Given the description of an element on the screen output the (x, y) to click on. 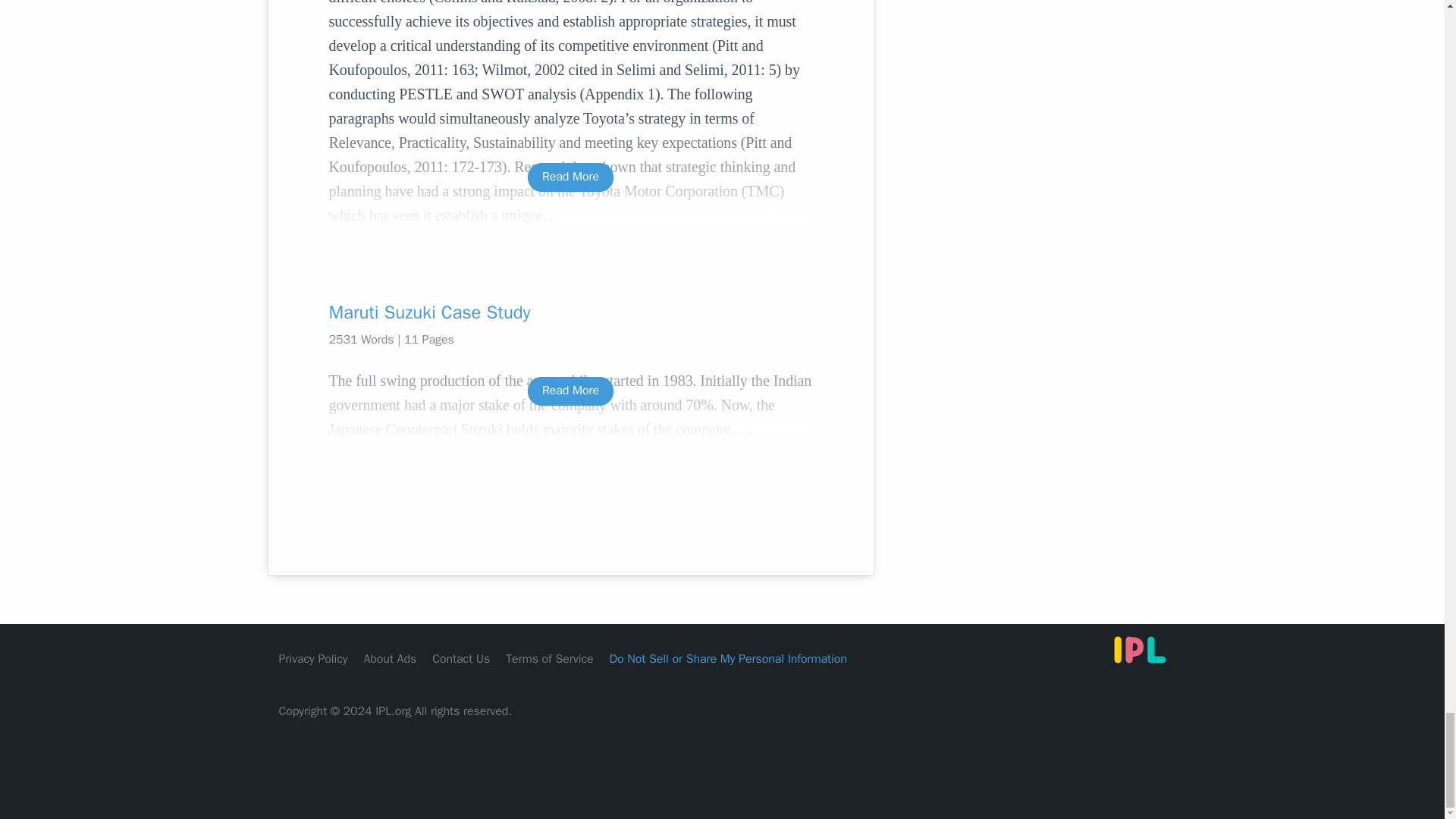
Contact Us (460, 658)
Terms of Service (548, 658)
Privacy Policy (313, 658)
About Ads (389, 658)
